Given the description of an element on the screen output the (x, y) to click on. 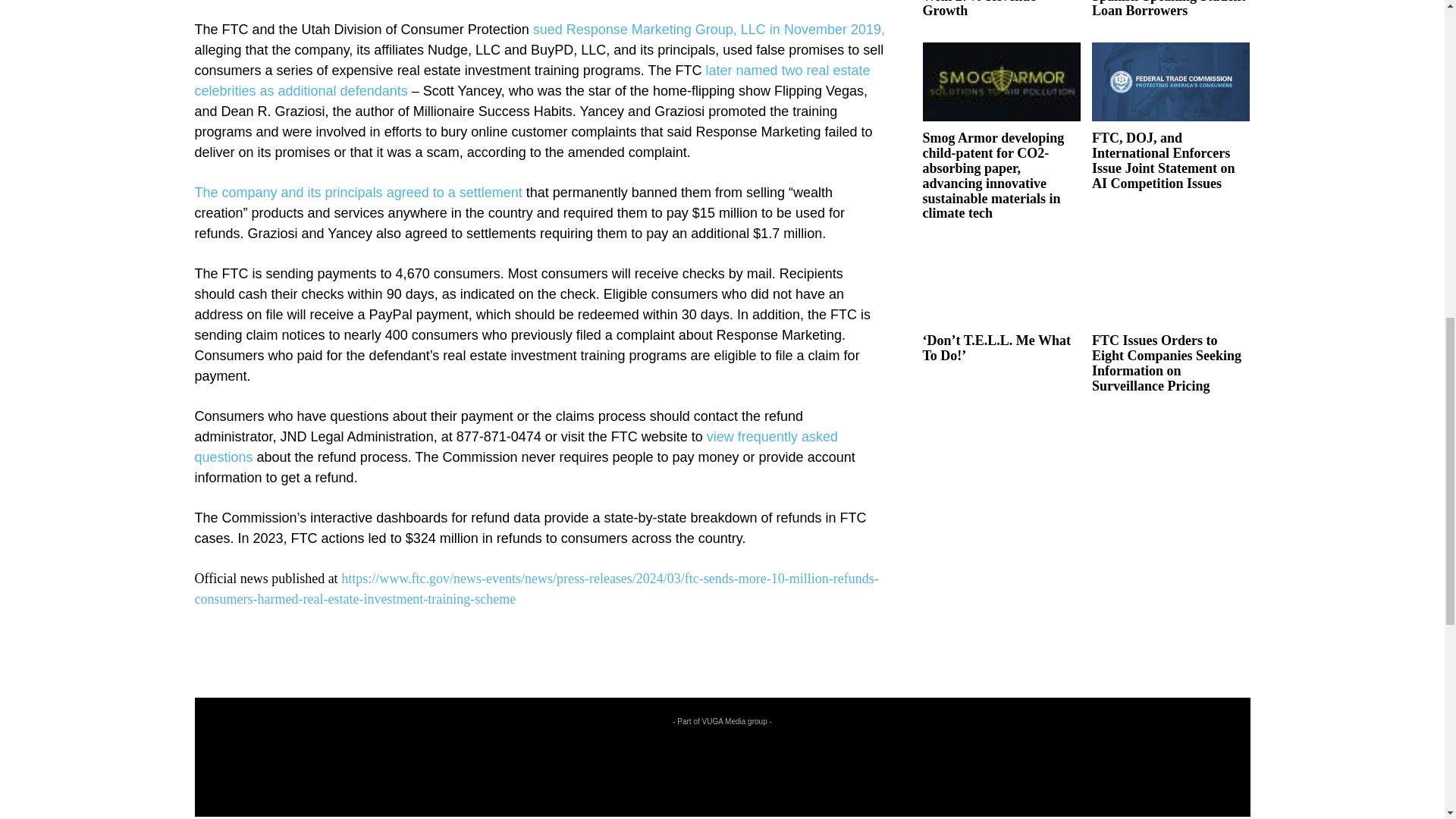
The company and its principals agreed to a settlement (357, 192)
view frequently asked questions (515, 447)
sued Response Marketing Group, LLC in November 2019, (708, 29)
